Given the description of an element on the screen output the (x, y) to click on. 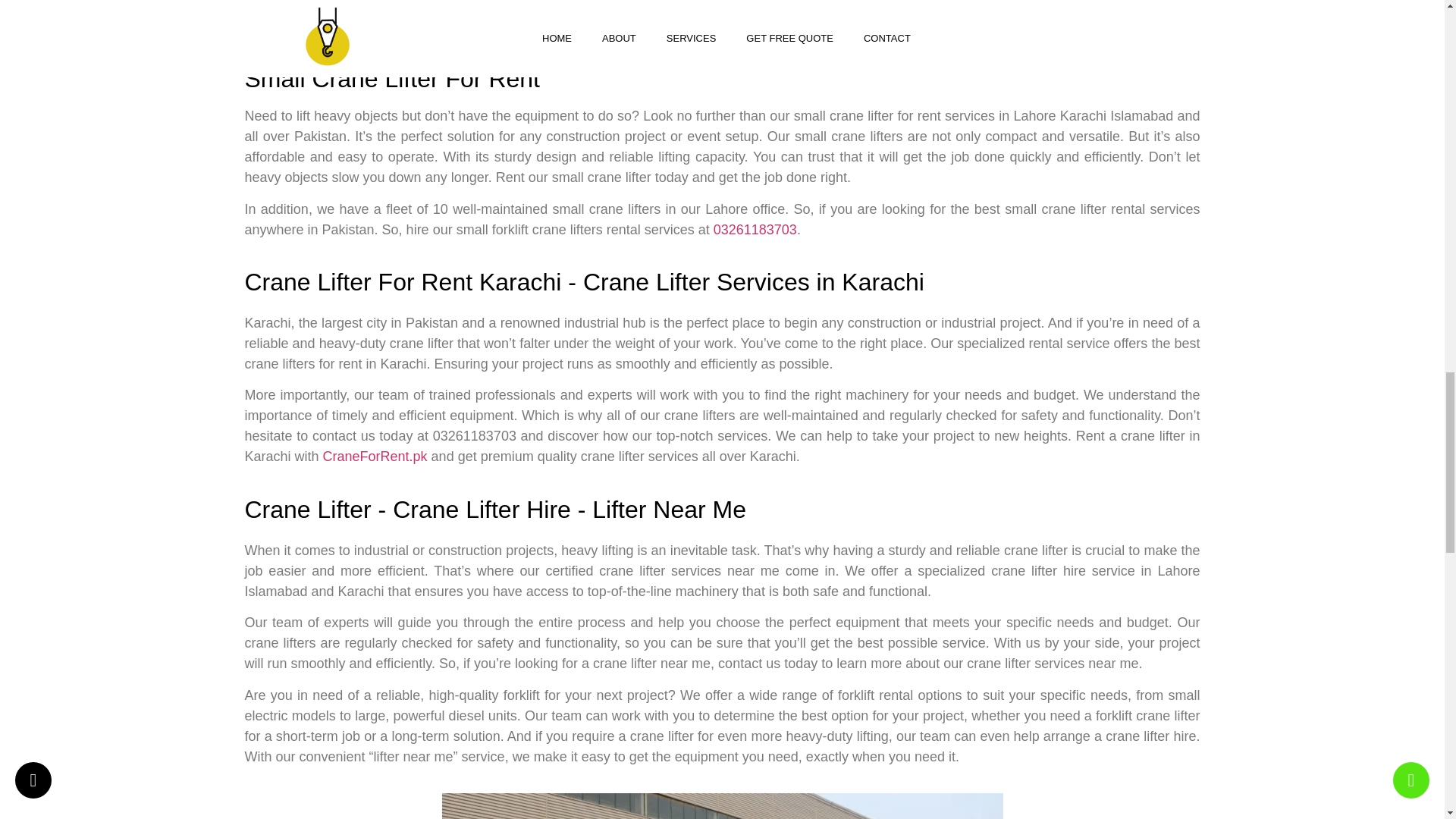
CraneForRent.pk (375, 456)
03261183703 (754, 229)
